Given the description of an element on the screen output the (x, y) to click on. 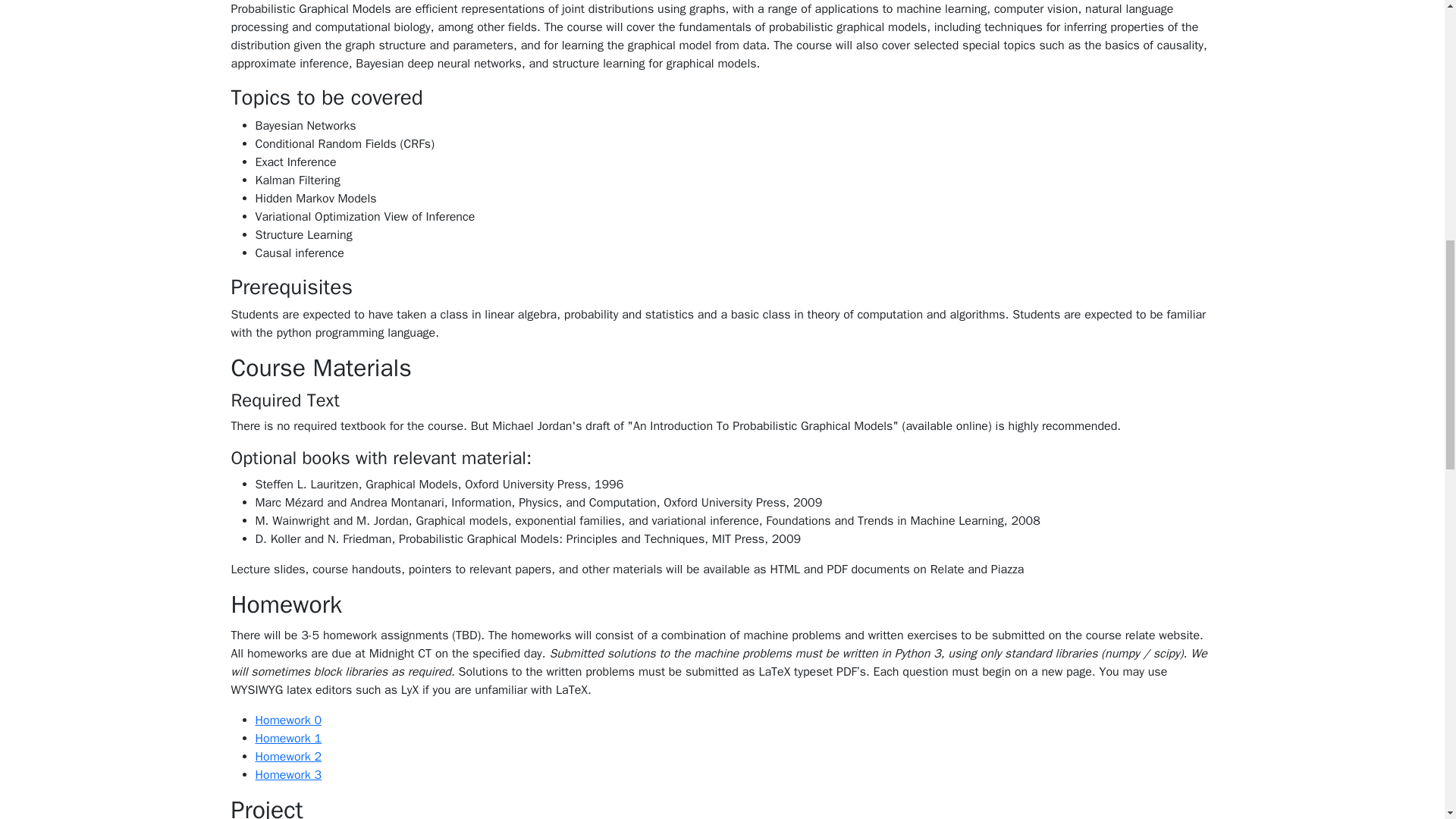
Homework 3 (287, 774)
Homework 2 (287, 756)
Homework 0 (287, 720)
Homework 1 (287, 738)
